Given the description of an element on the screen output the (x, y) to click on. 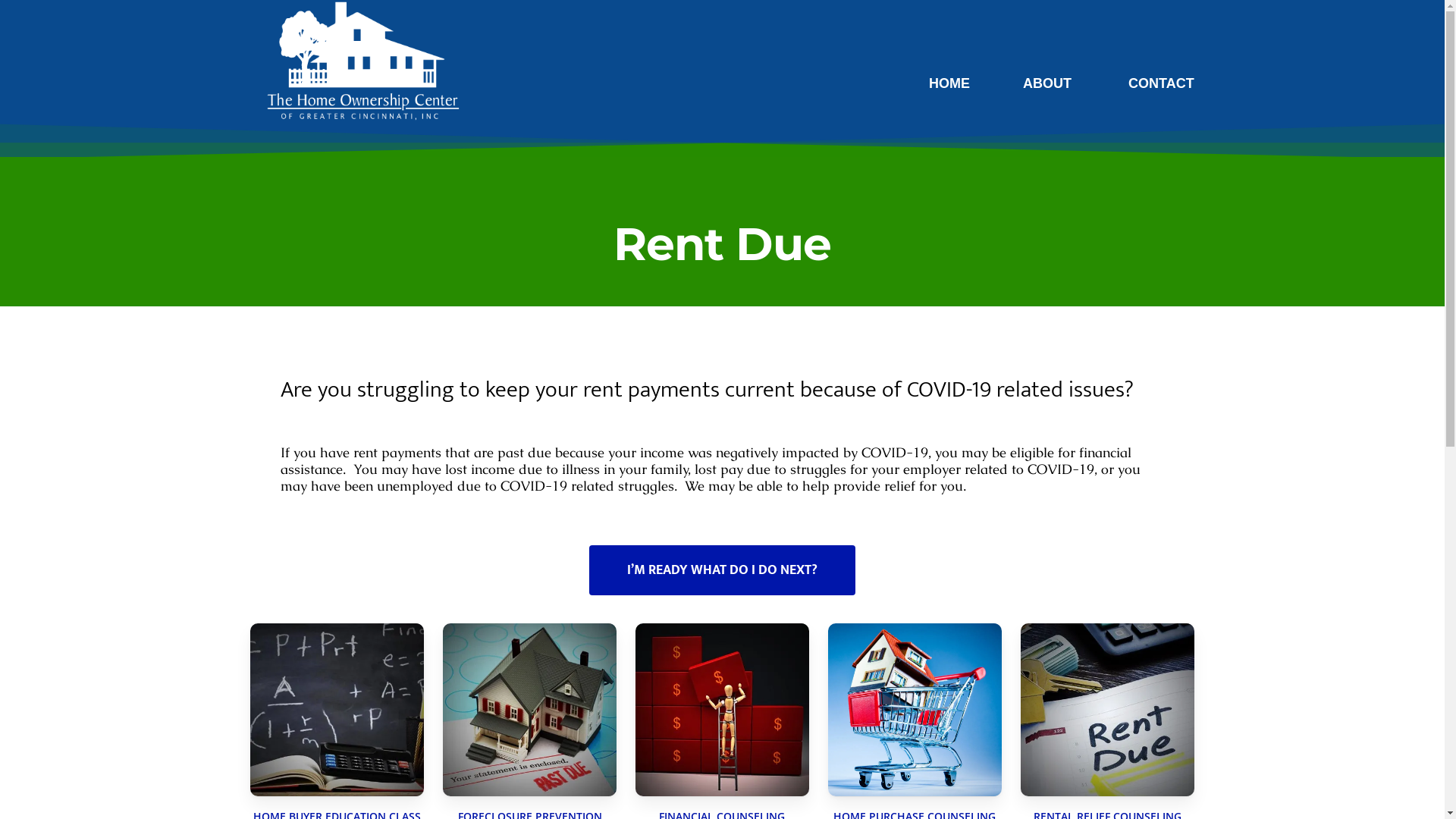
HOME Element type: text (945, 83)
CONTACT Element type: text (1157, 83)
ABOUT Element type: text (1043, 83)
